Given the description of an element on the screen output the (x, y) to click on. 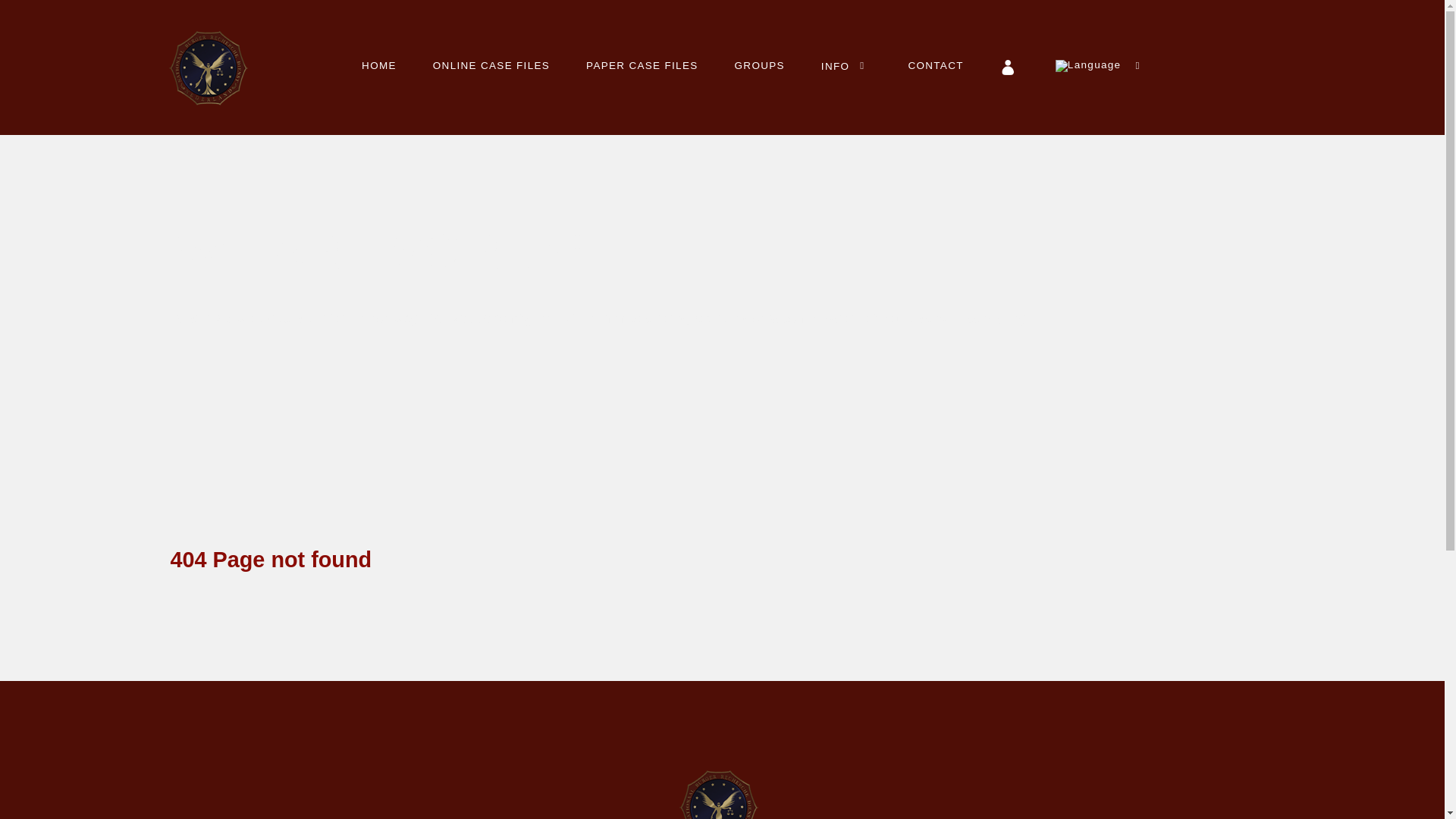
CONTACT (935, 65)
PAPER CASE FILES (641, 65)
GROUPS (759, 65)
Login (1008, 67)
HOME (378, 65)
ONLINE CASE FILES (490, 65)
